Given the description of an element on the screen output the (x, y) to click on. 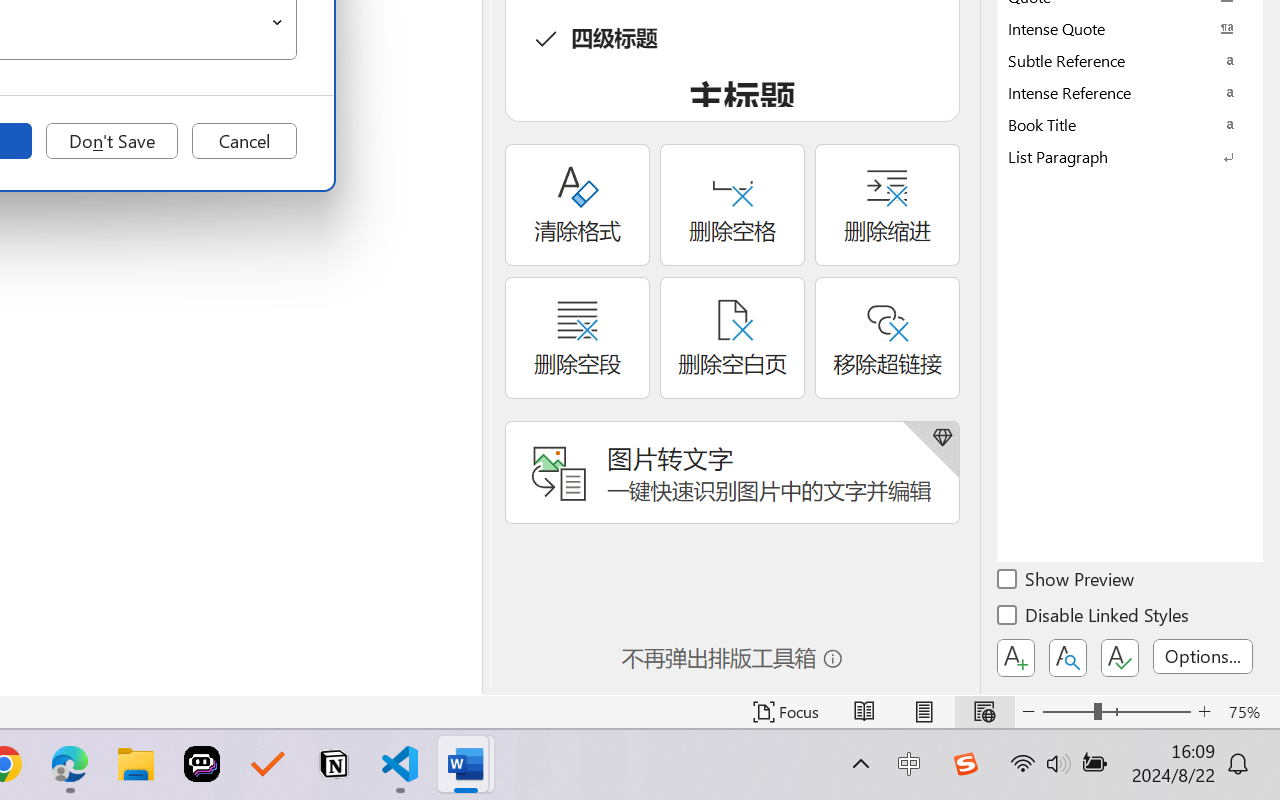
Poe (201, 764)
Zoom In (1204, 712)
Focus  (786, 712)
Print Layout (924, 712)
